Given the description of an element on the screen output the (x, y) to click on. 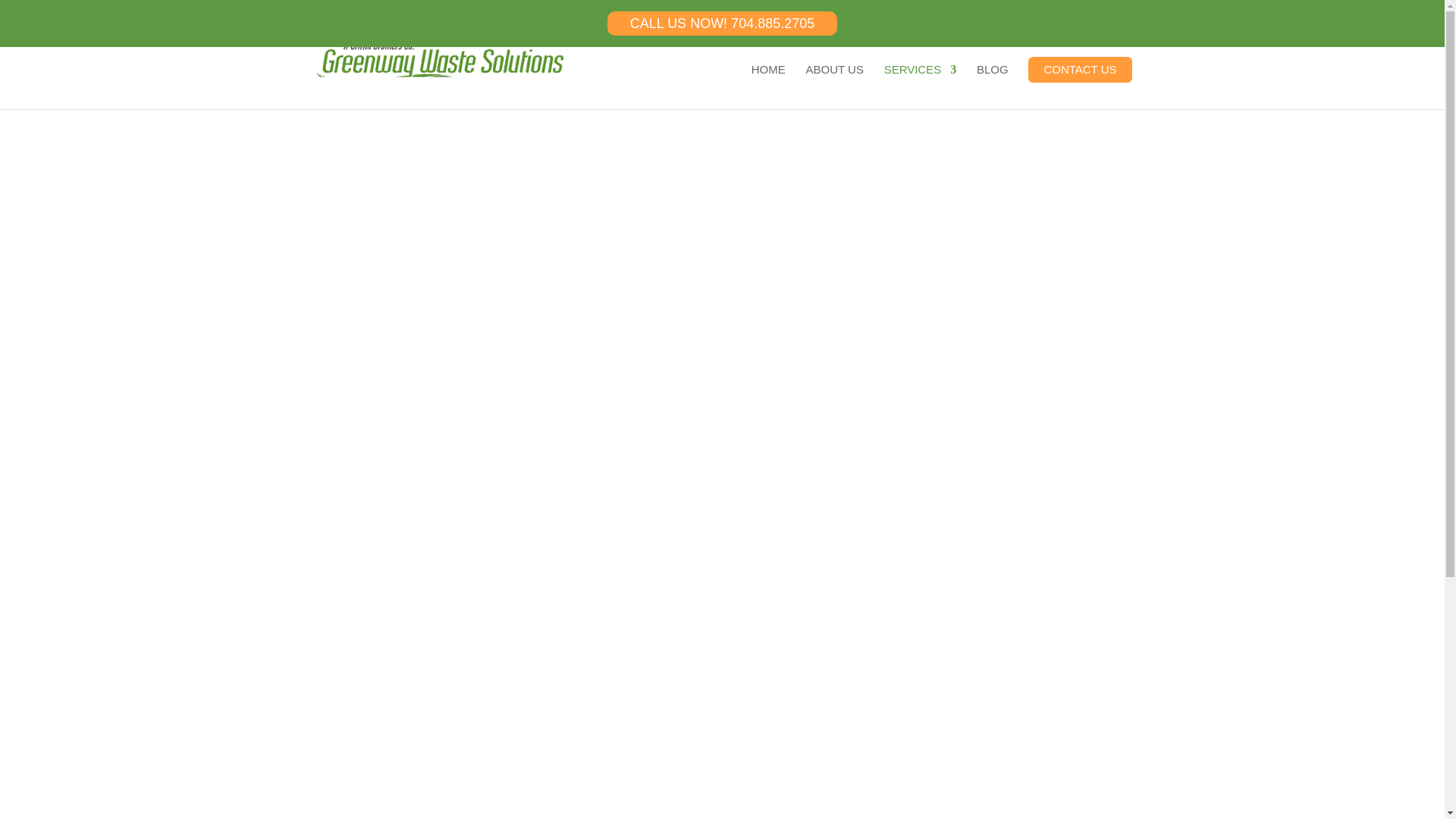
CALL US NOW! 704.885.2705 (722, 23)
CONTACT US (1079, 69)
call our professional staff today (690, 673)
SERVICES (919, 86)
ABOUT US (834, 86)
